Given the description of an element on the screen output the (x, y) to click on. 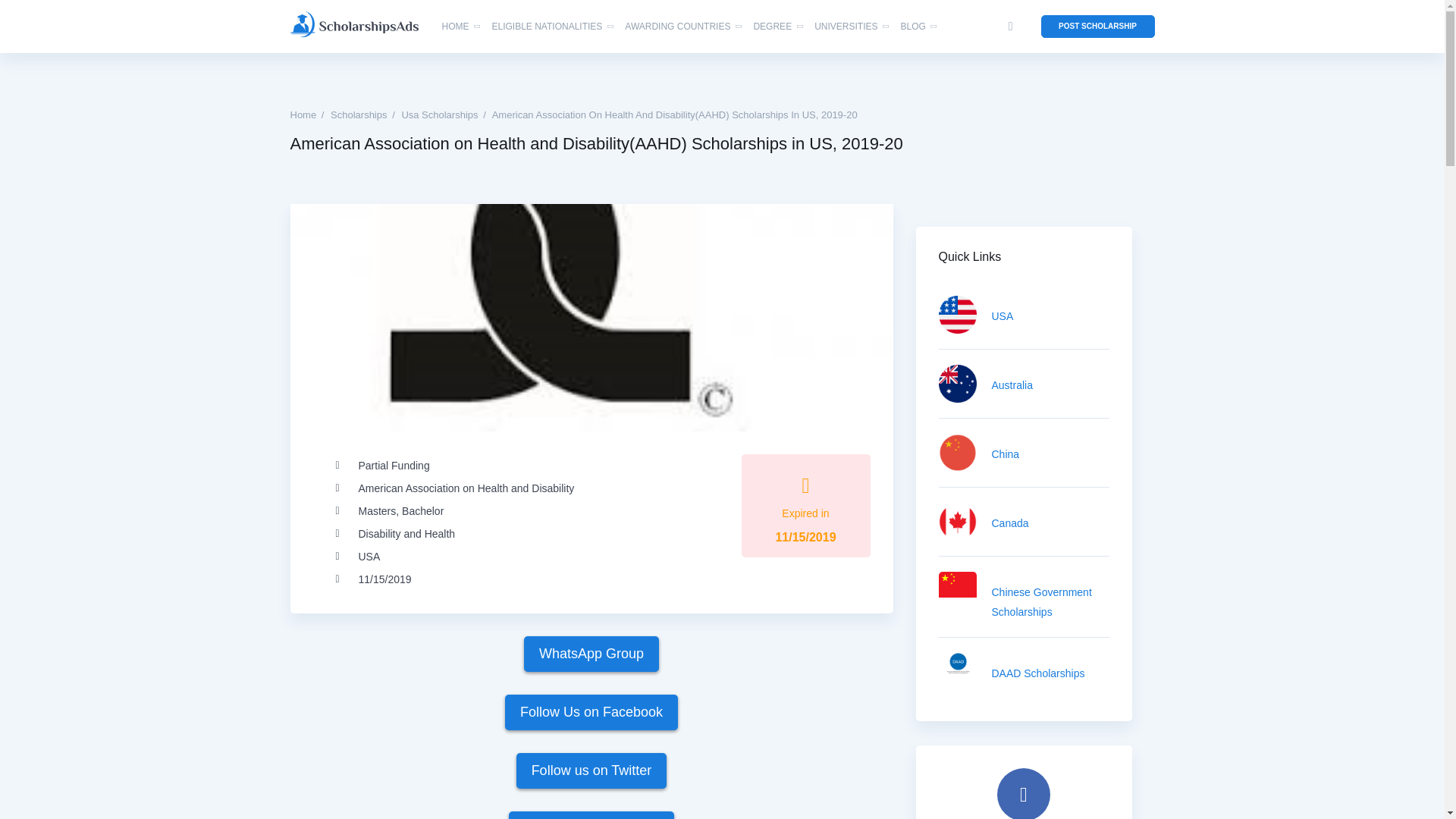
AWARDING COUNTRIES (677, 26)
ELIGIBLE NATIONALITIES (547, 26)
UNIVERSITIES (845, 26)
